Given the description of an element on the screen output the (x, y) to click on. 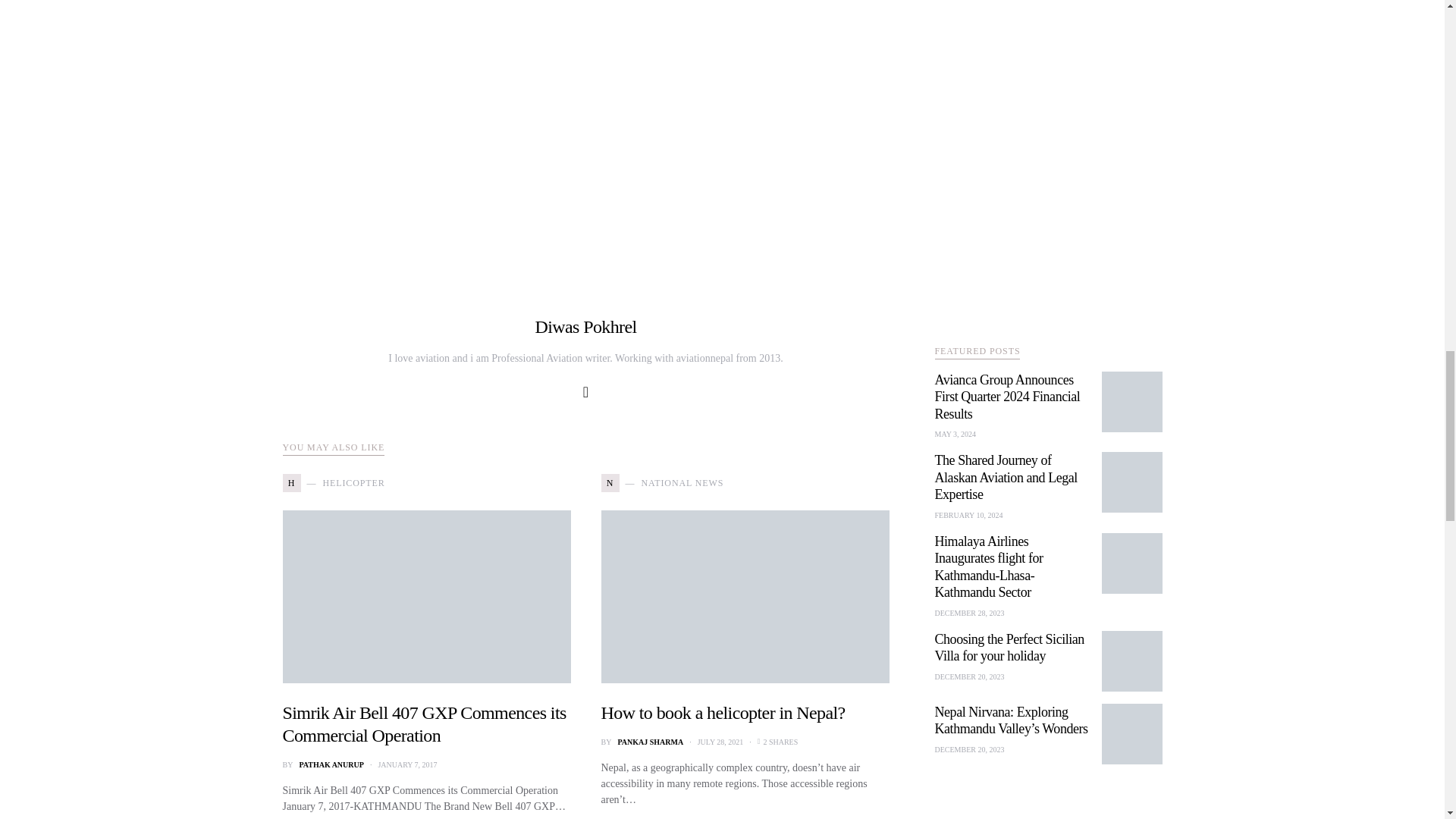
View all posts by Pankaj Sharma (649, 741)
View all posts by Pathak Anurup (330, 764)
